Given the description of an element on the screen output the (x, y) to click on. 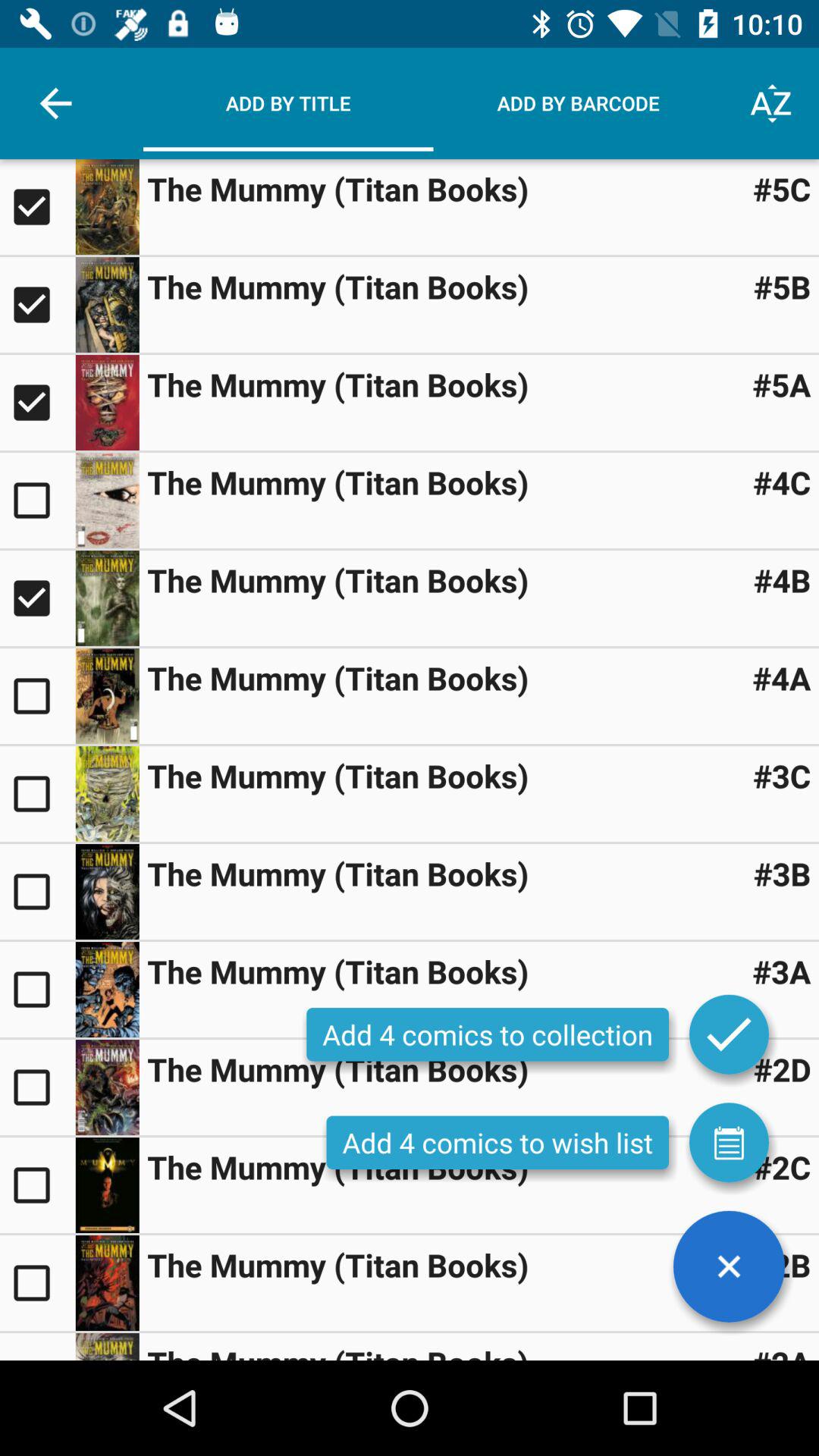
select comic (37, 598)
